Given the description of an element on the screen output the (x, y) to click on. 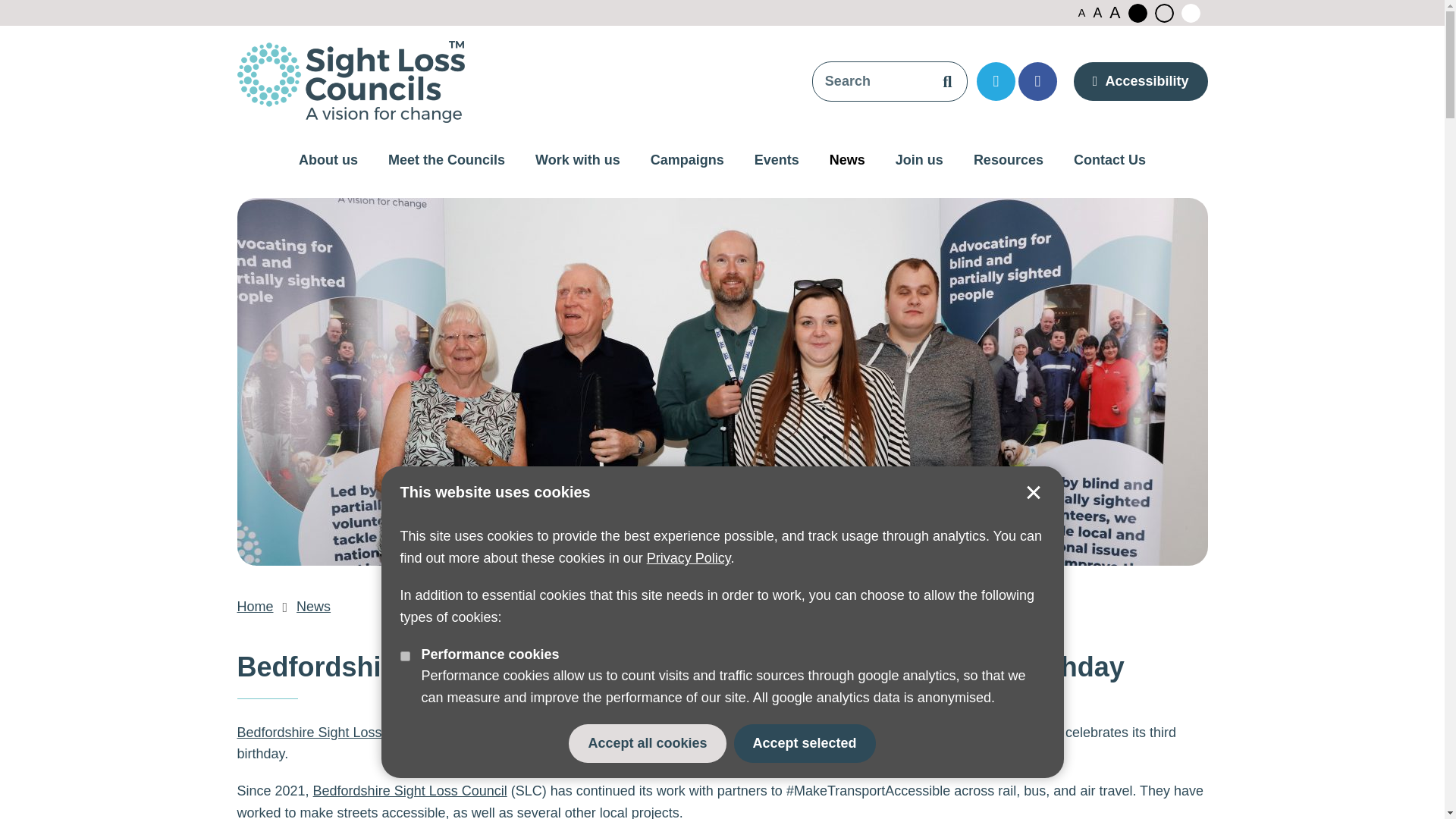
Normal contrast (1163, 13)
Black contrast (1137, 13)
stats (405, 655)
Skip to content (18, 9)
Accessibility (1141, 81)
About us (327, 160)
White contrast (1189, 13)
Meet the Councils (445, 160)
Accept selected (1033, 492)
Privacy Policy (688, 557)
Accept selected (804, 742)
Follow us on Twitter (995, 81)
Accept all cookies (647, 742)
Home (254, 606)
Find us on Facebook (1037, 81)
